Given the description of an element on the screen output the (x, y) to click on. 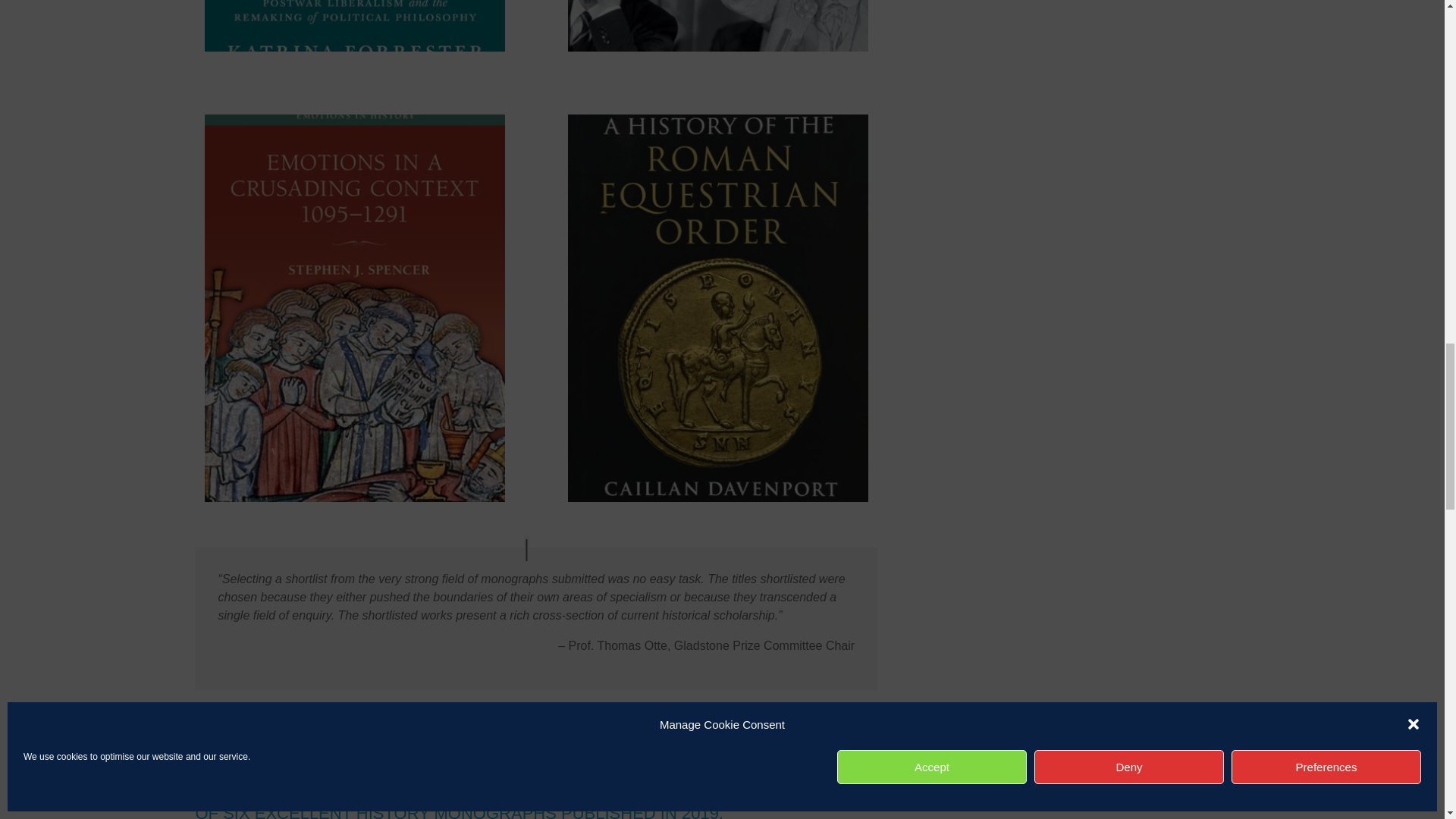
Davenport (717, 497)
Haeussler (717, 47)
Forrester (355, 47)
Spencer (355, 497)
